Given the description of an element on the screen output the (x, y) to click on. 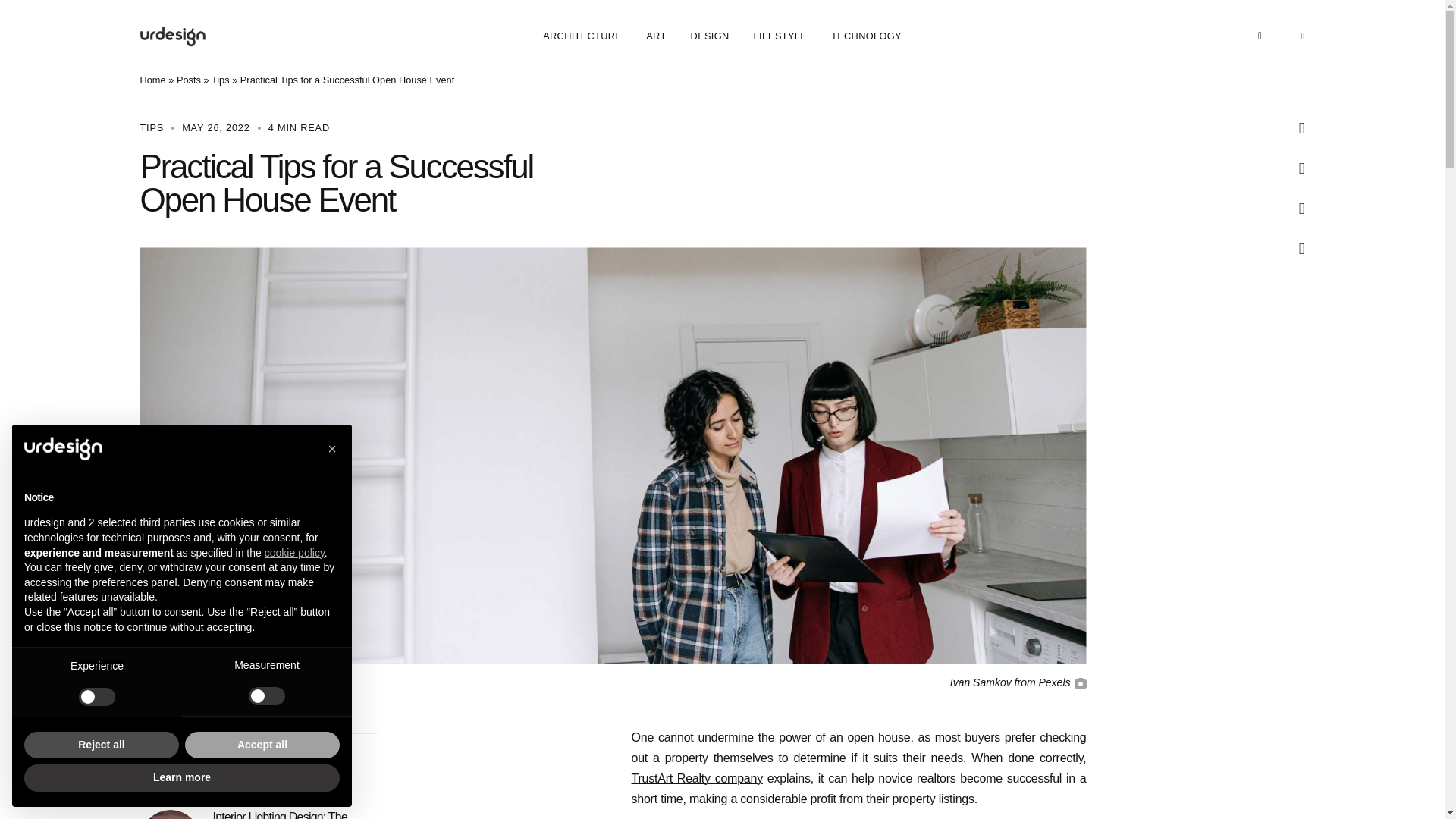
false (266, 696)
TECHNOLOGY (866, 36)
ARCHITECTURE (582, 36)
false (96, 696)
